Given the description of an element on the screen output the (x, y) to click on. 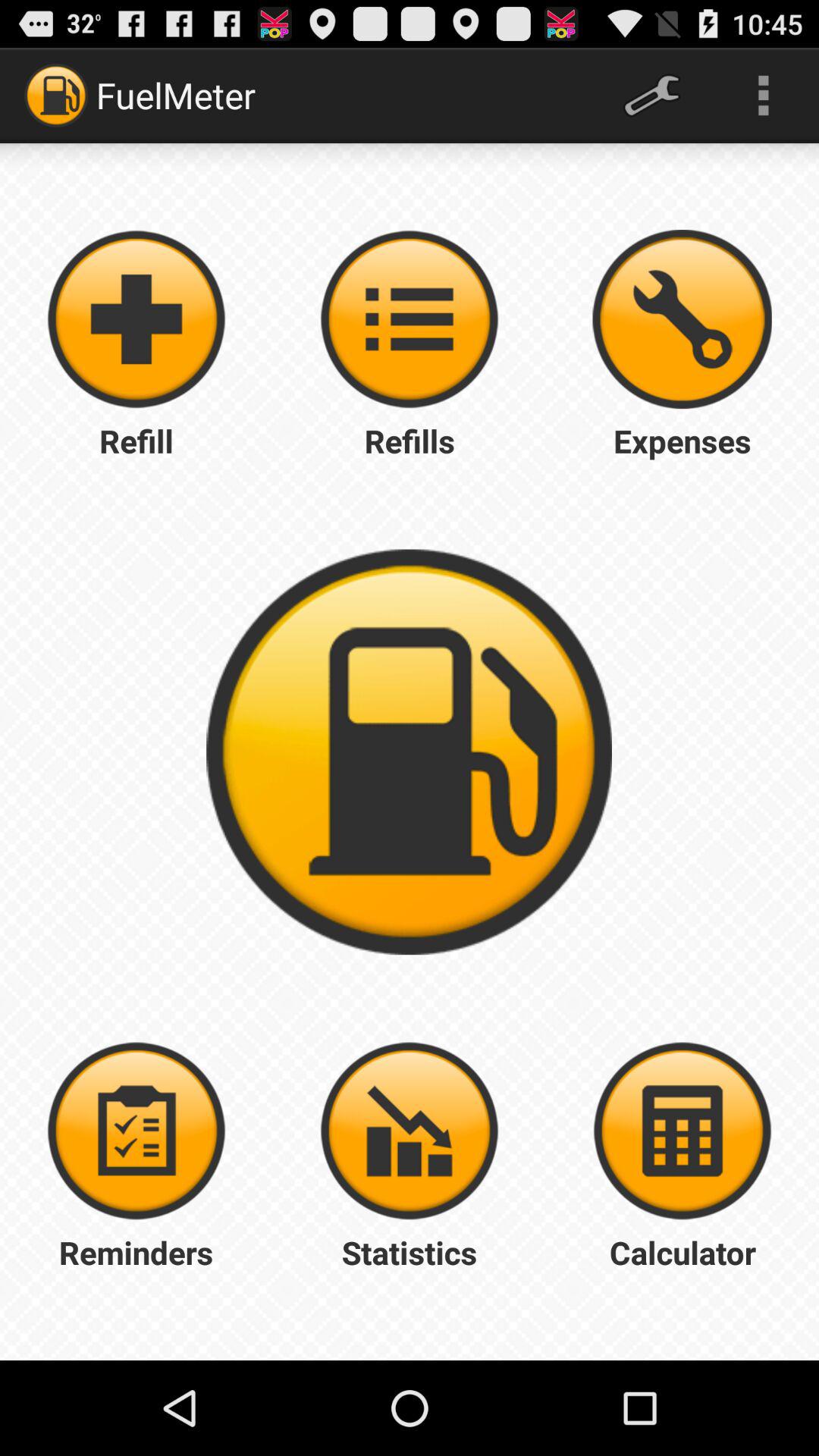
expenses button (682, 318)
